Given the description of an element on the screen output the (x, y) to click on. 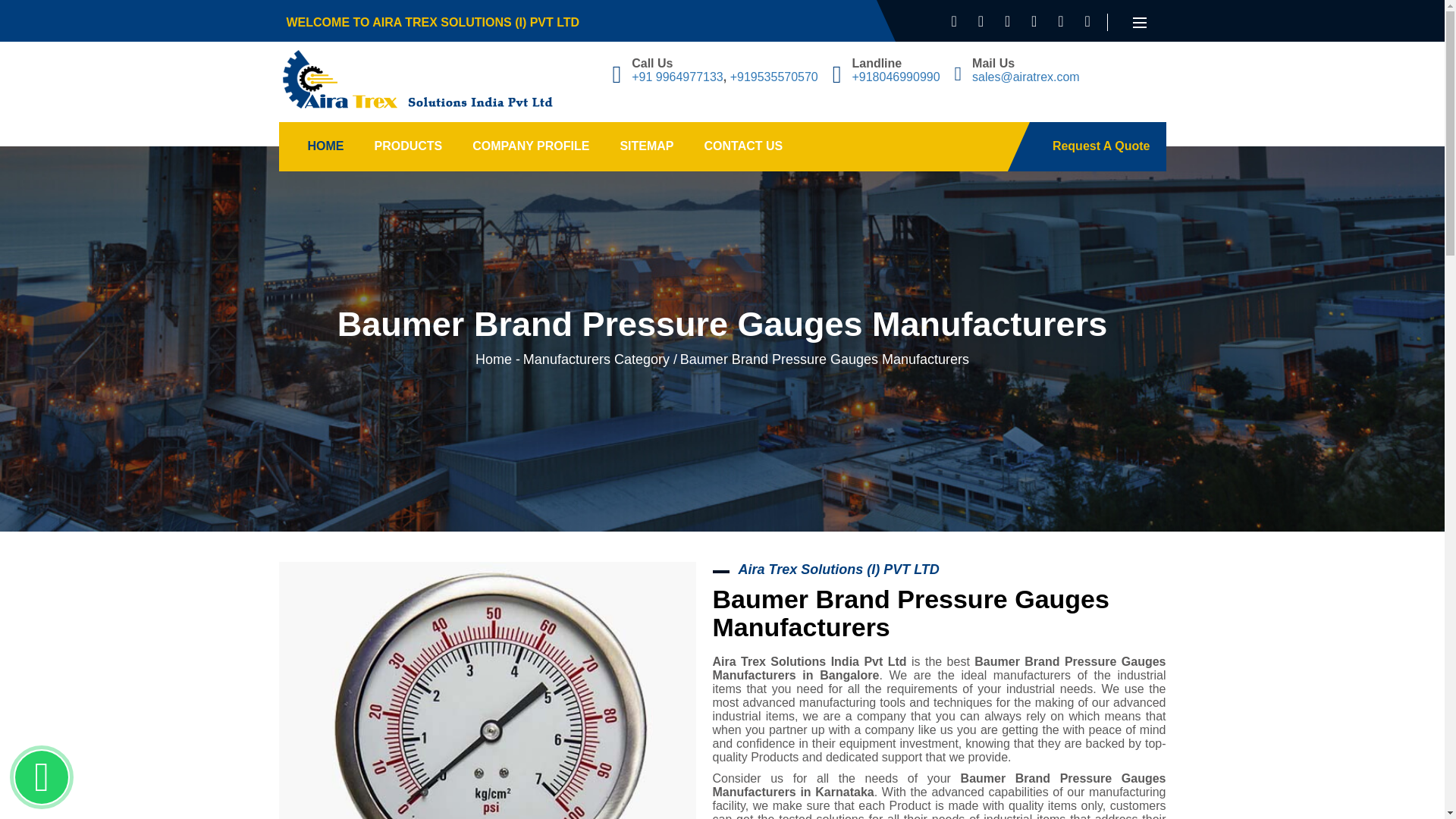
Toggle navigation (1139, 22)
Baumer Brand Pressure Gauges Manufacturers (487, 690)
PRODUCTS (408, 146)
HOME (325, 146)
